Given the description of an element on the screen output the (x, y) to click on. 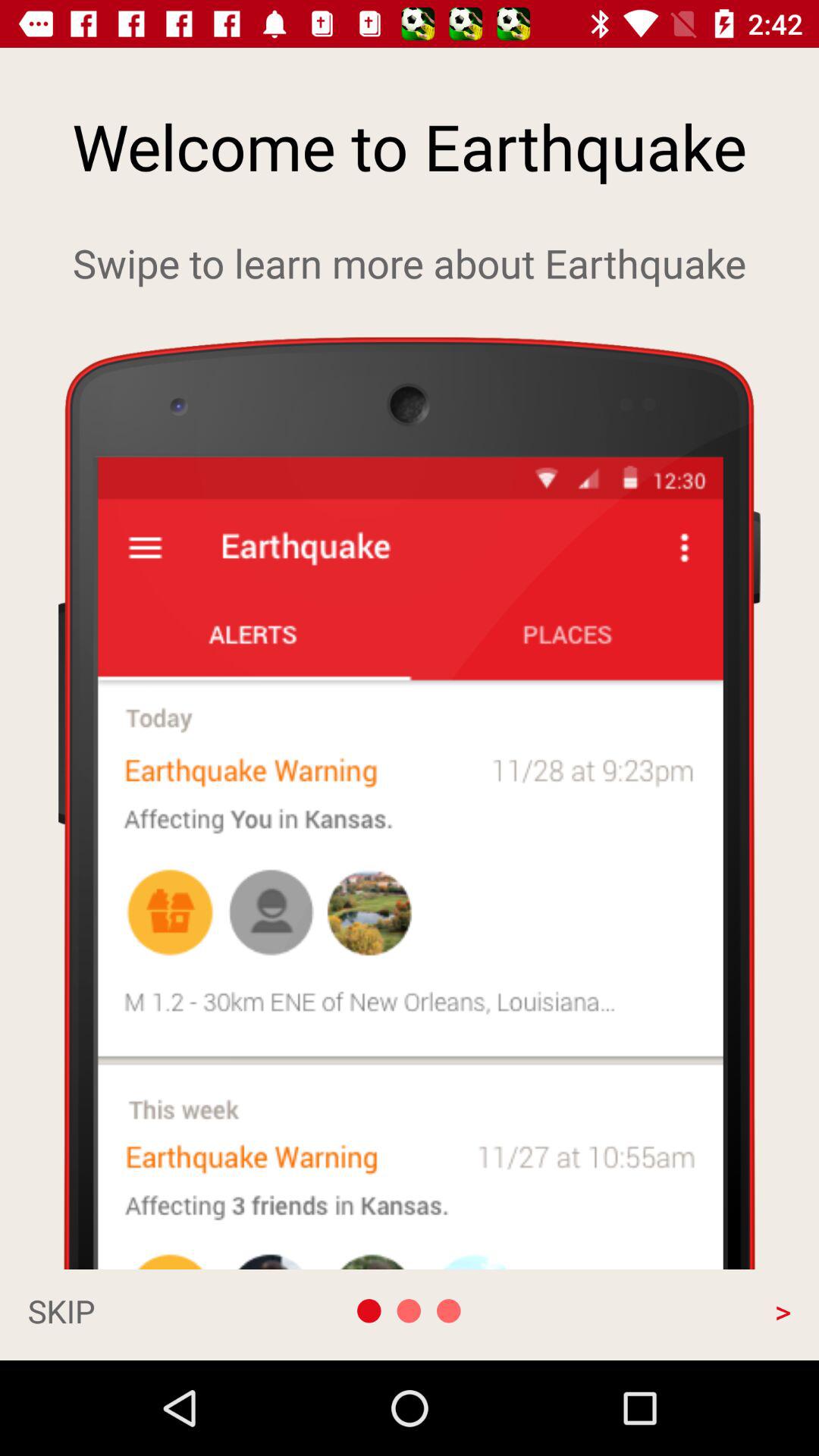
flip until the skip item (141, 1310)
